Given the description of an element on the screen output the (x, y) to click on. 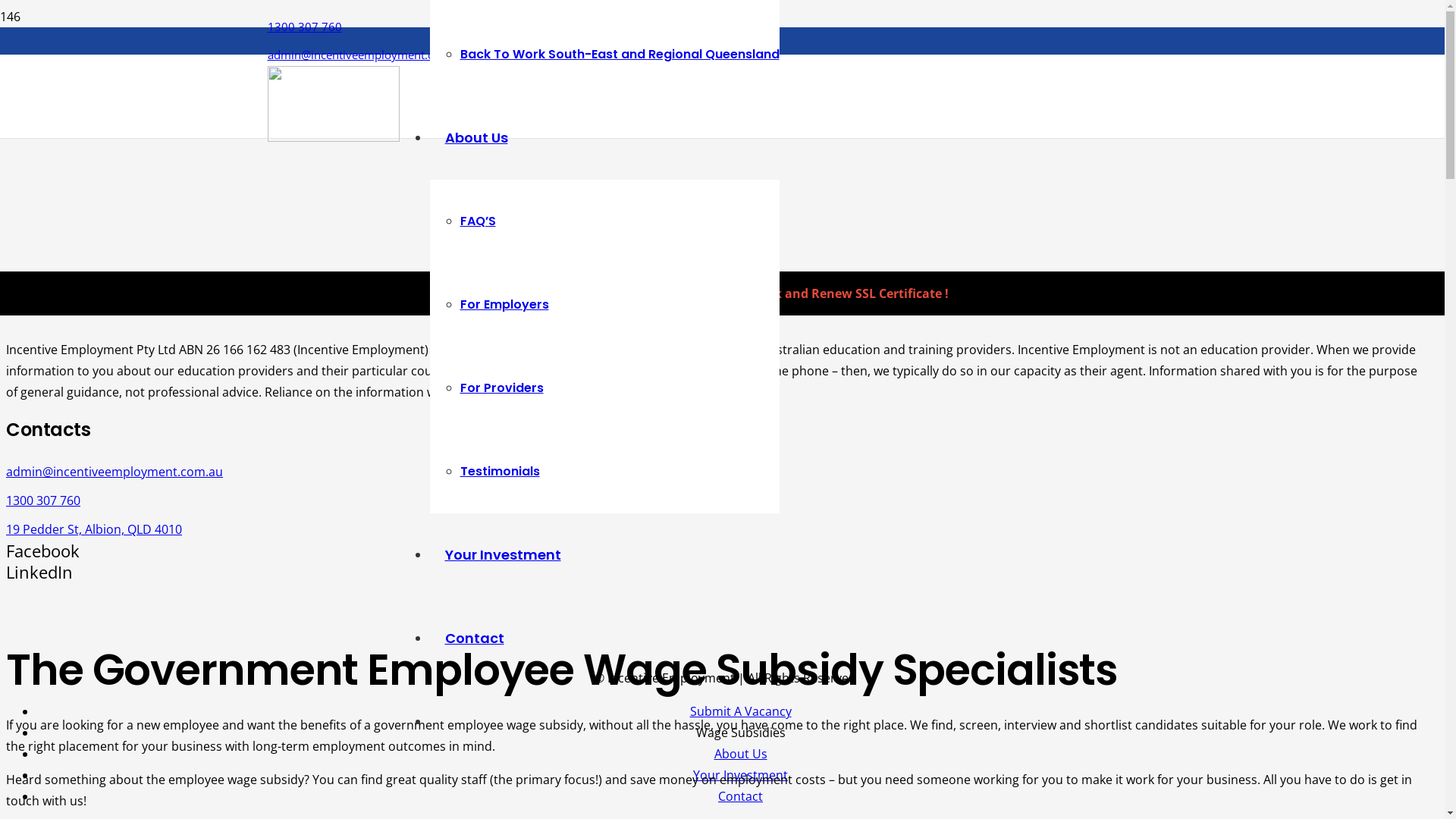
Your Investment Element type: text (740, 774)
1300 307 760 Element type: text (725, 500)
About Us Element type: text (475, 137)
Back To Work South-East and Regional Queensland Element type: text (618, 53)
Your Investment Element type: text (502, 554)
Contact Element type: text (740, 795)
1300 307 760 Element type: text (303, 26)
Wage Subsidies Element type: text (740, 732)
For Providers Element type: text (500, 387)
admin@incentiveemployment.com.au Element type: text (365, 54)
19 Pedder St, Albion, QLD 4010 Element type: text (725, 528)
Submit A Vacancy Element type: text (740, 710)
About Us Element type: text (740, 753)
For Employers Element type: text (503, 304)
Testimonials Element type: text (499, 471)
Contact Element type: text (473, 637)
admin@incentiveemployment.com.au Element type: text (725, 471)
